Given the description of an element on the screen output the (x, y) to click on. 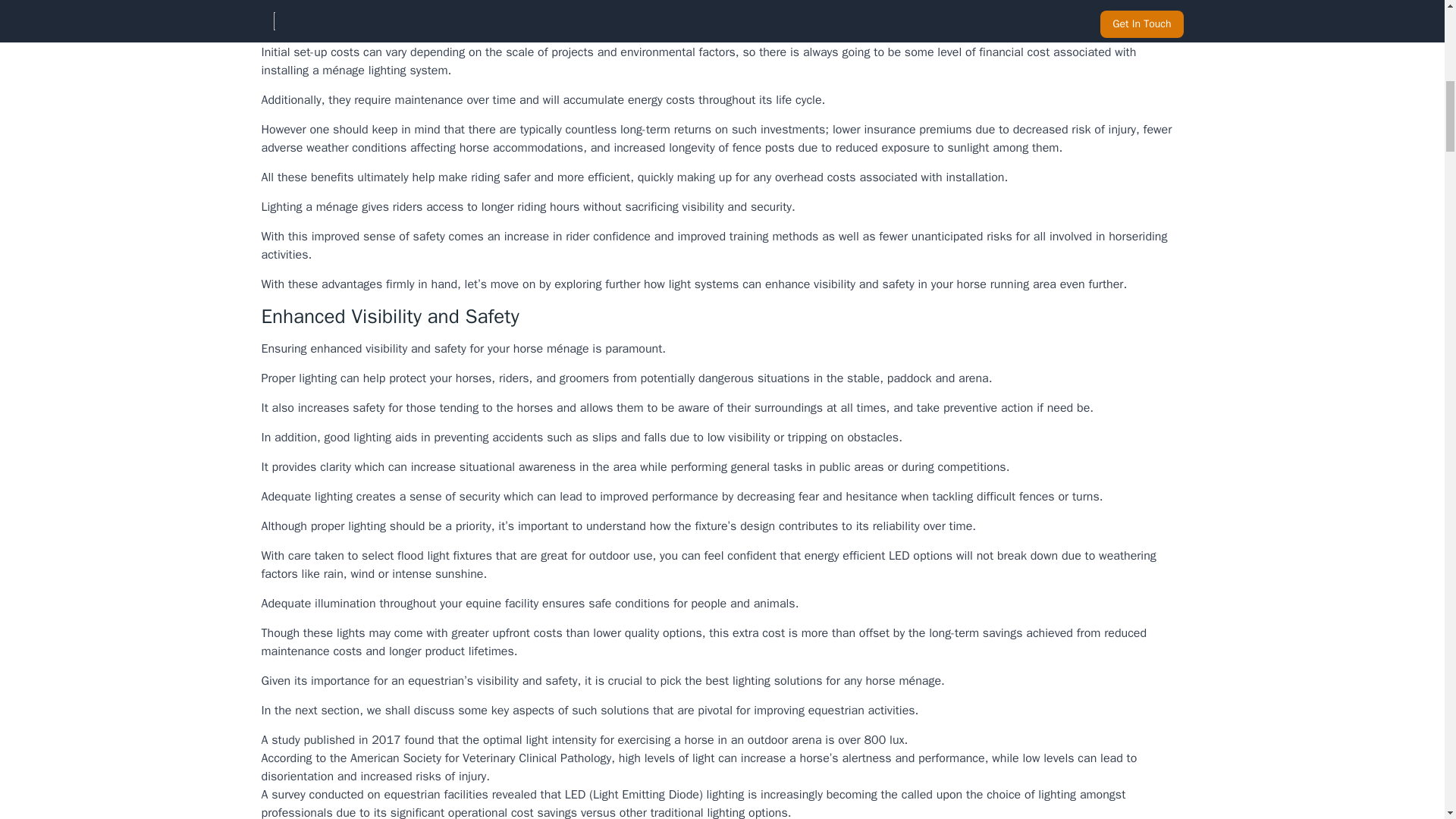
fence posts (763, 147)
outdoor arena (785, 739)
